Given the description of an element on the screen output the (x, y) to click on. 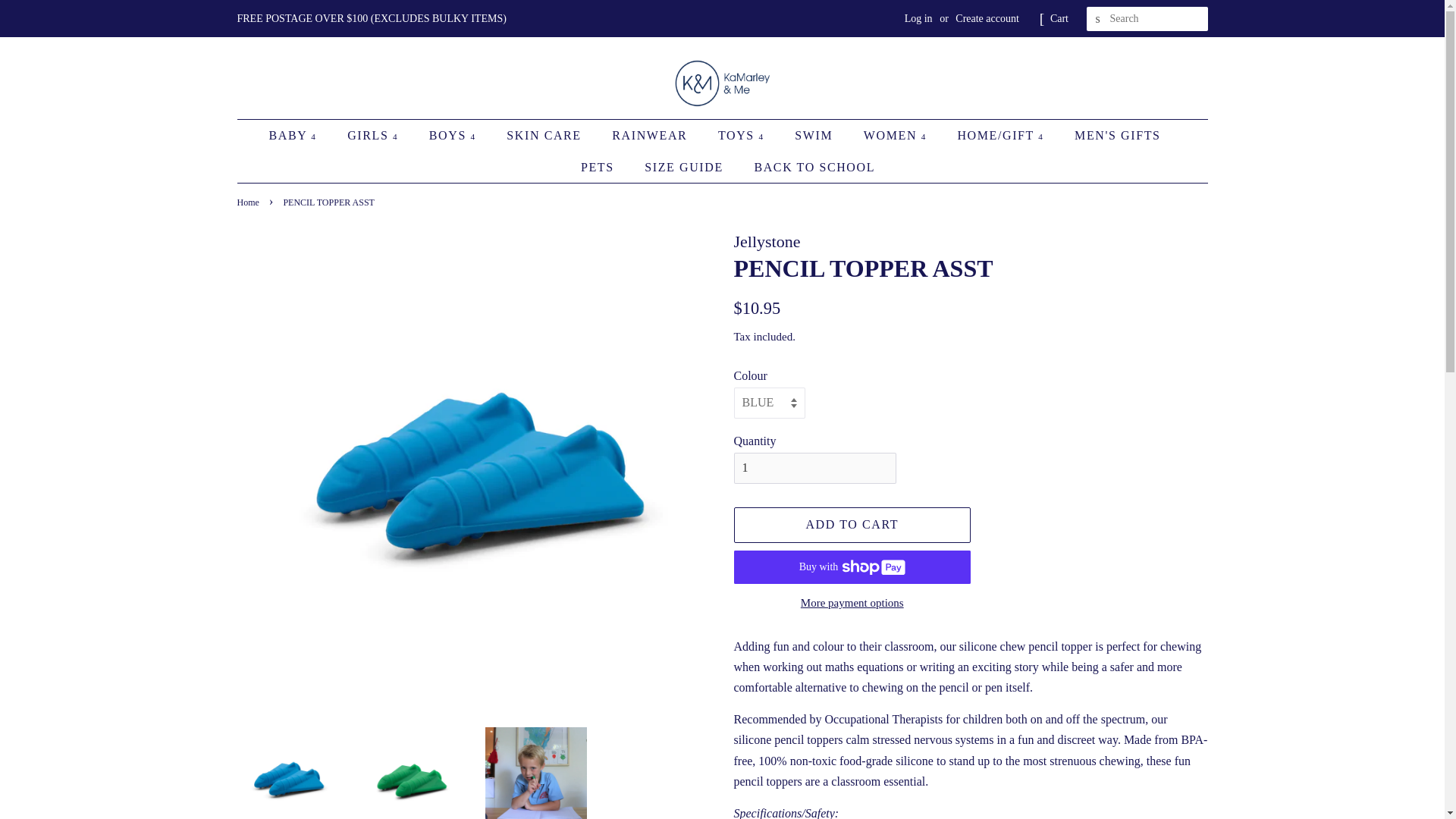
Back to the frontpage (248, 202)
SEARCH (1097, 18)
Cart (1058, 18)
Create account (987, 18)
1 (814, 468)
Log in (918, 18)
